Given the description of an element on the screen output the (x, y) to click on. 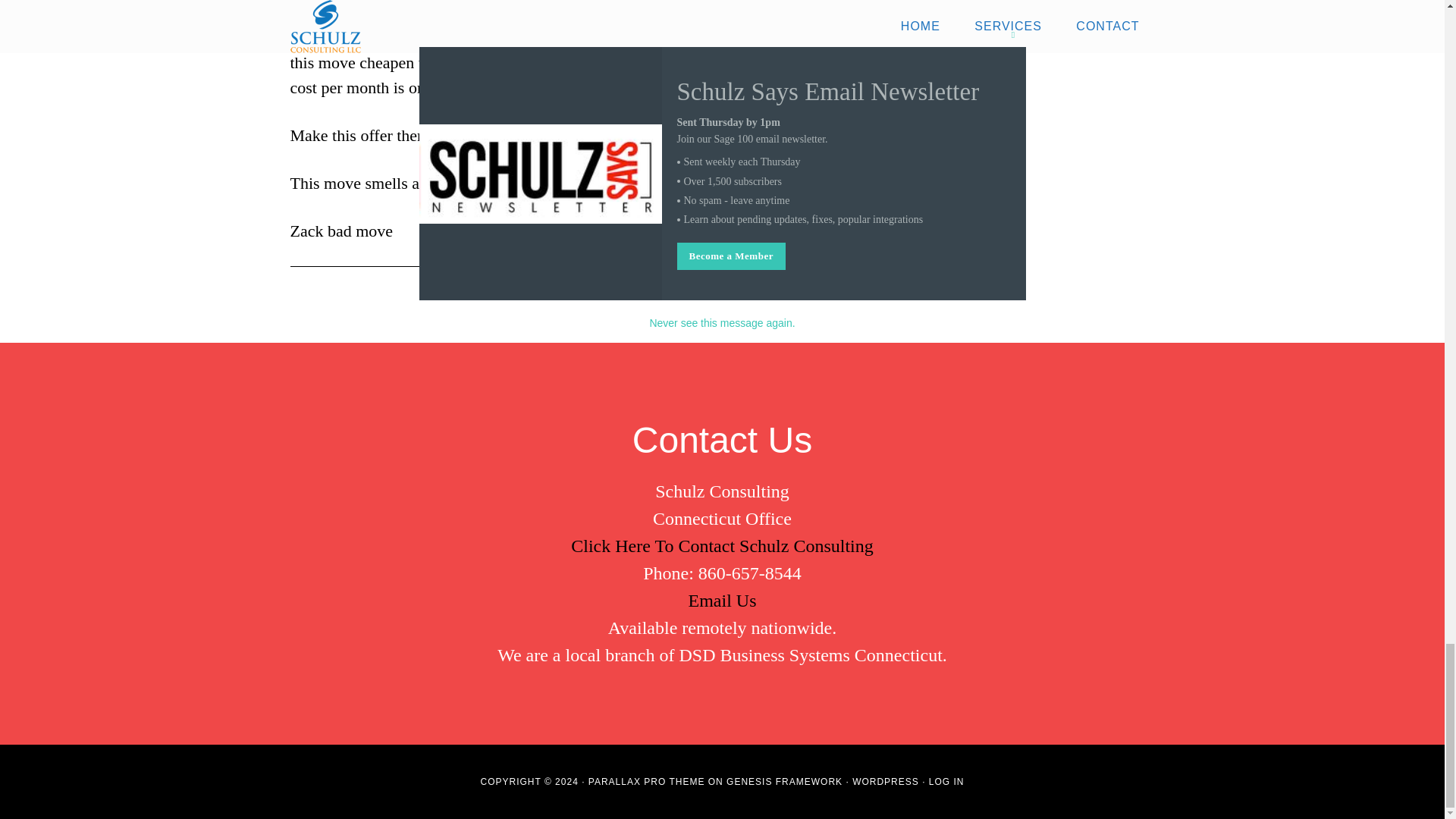
GENESIS FRAMEWORK (784, 781)
Email Us (722, 600)
October 23, 2008 at 8:25 am (437, 8)
Click Here To Contact Schulz Consulting (721, 546)
PARALLAX PRO THEME (646, 781)
